Given the description of an element on the screen output the (x, y) to click on. 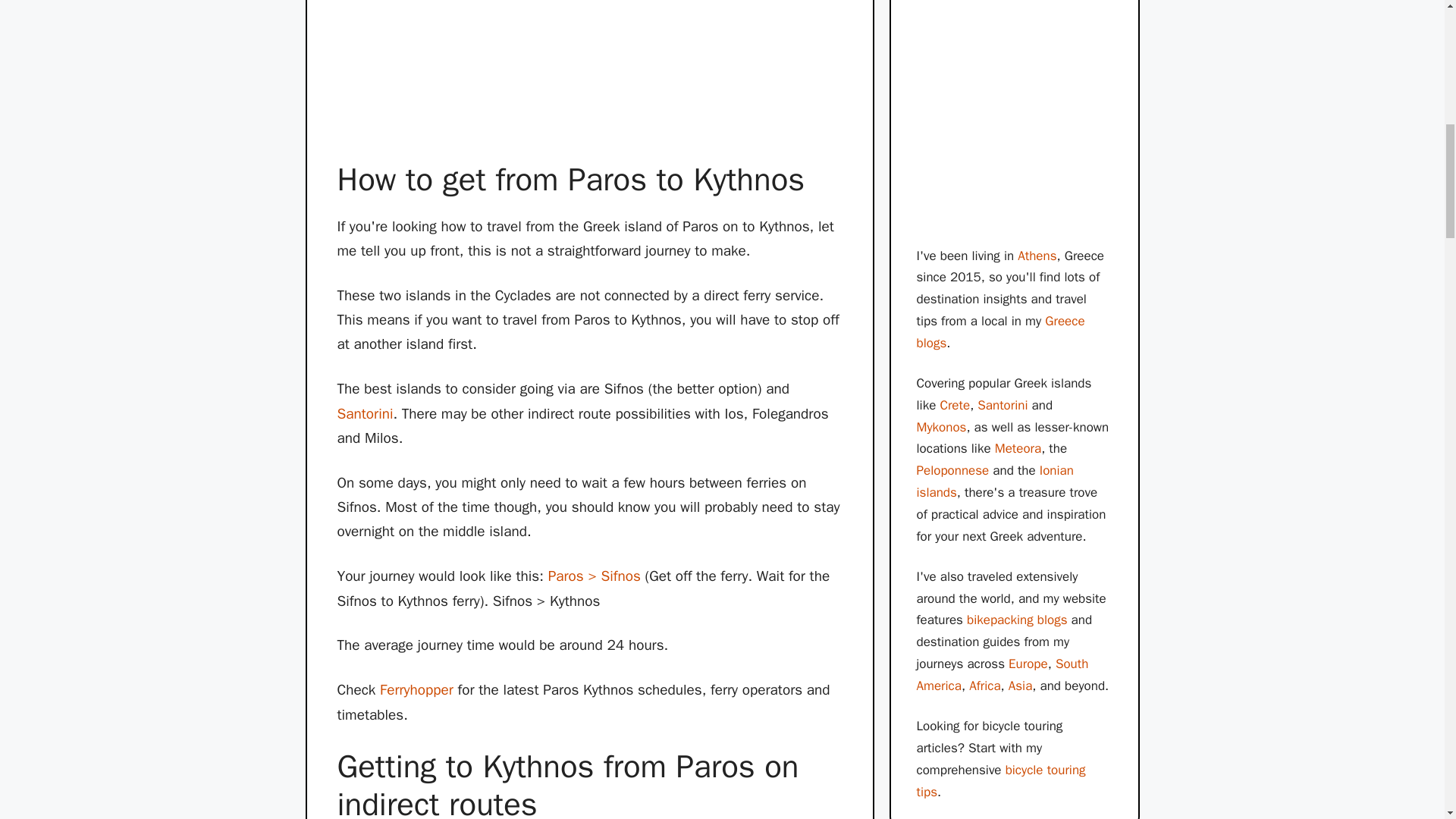
Ferryhopper (416, 689)
Athens (1037, 255)
Greece blogs (999, 331)
Santorini (364, 413)
